Given the description of an element on the screen output the (x, y) to click on. 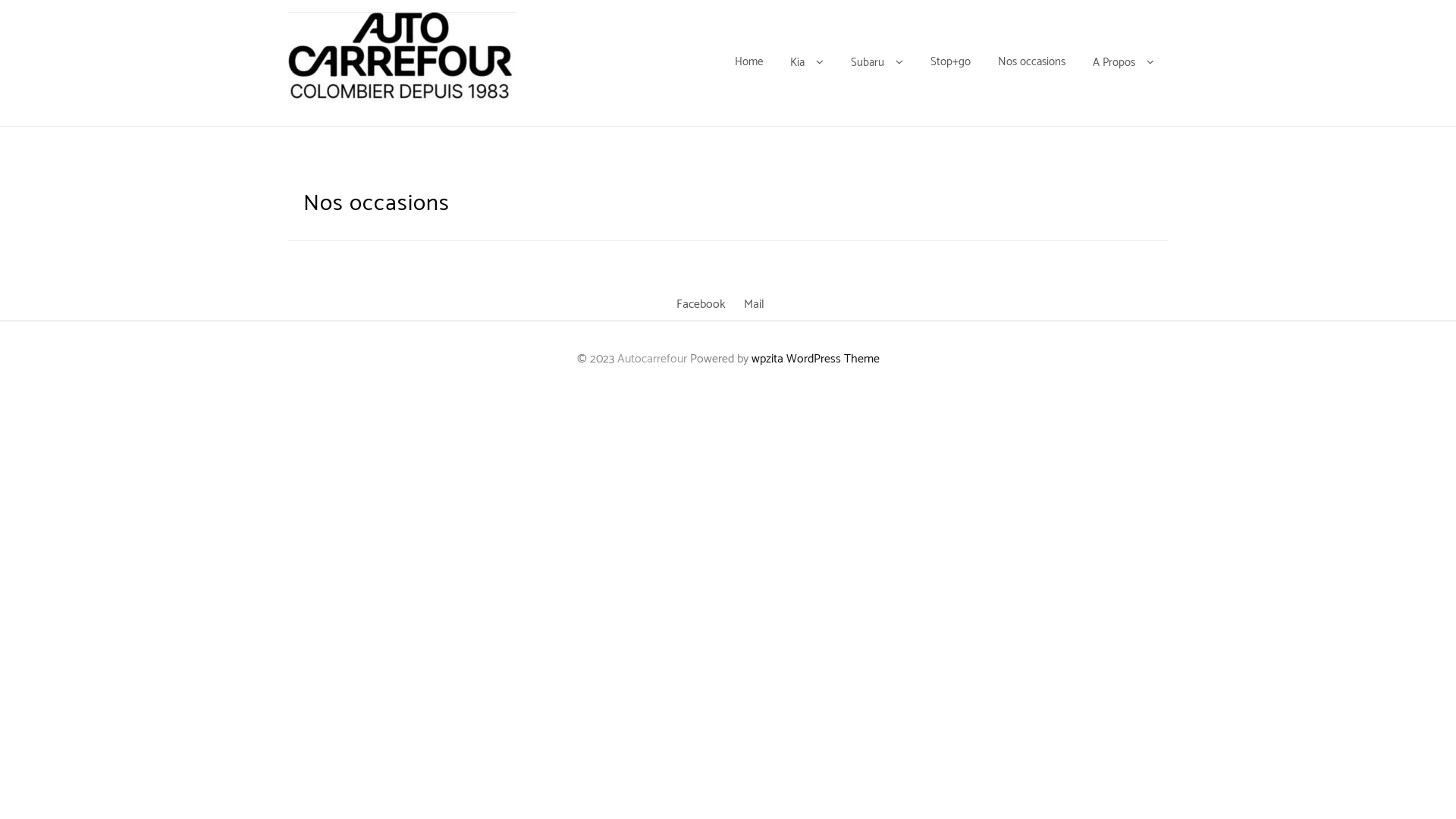
Nos occasions Element type: text (1031, 61)
Facebook Element type: text (700, 304)
Mail Element type: text (753, 304)
Kia Element type: text (806, 62)
Subaru Element type: text (876, 62)
Autocarrefour Element type: text (652, 358)
wpzita WordPress Theme Element type: text (814, 358)
Stop+go Element type: text (950, 61)
A Propos Element type: text (1123, 62)
Home Element type: text (748, 61)
